Given the description of an element on the screen output the (x, y) to click on. 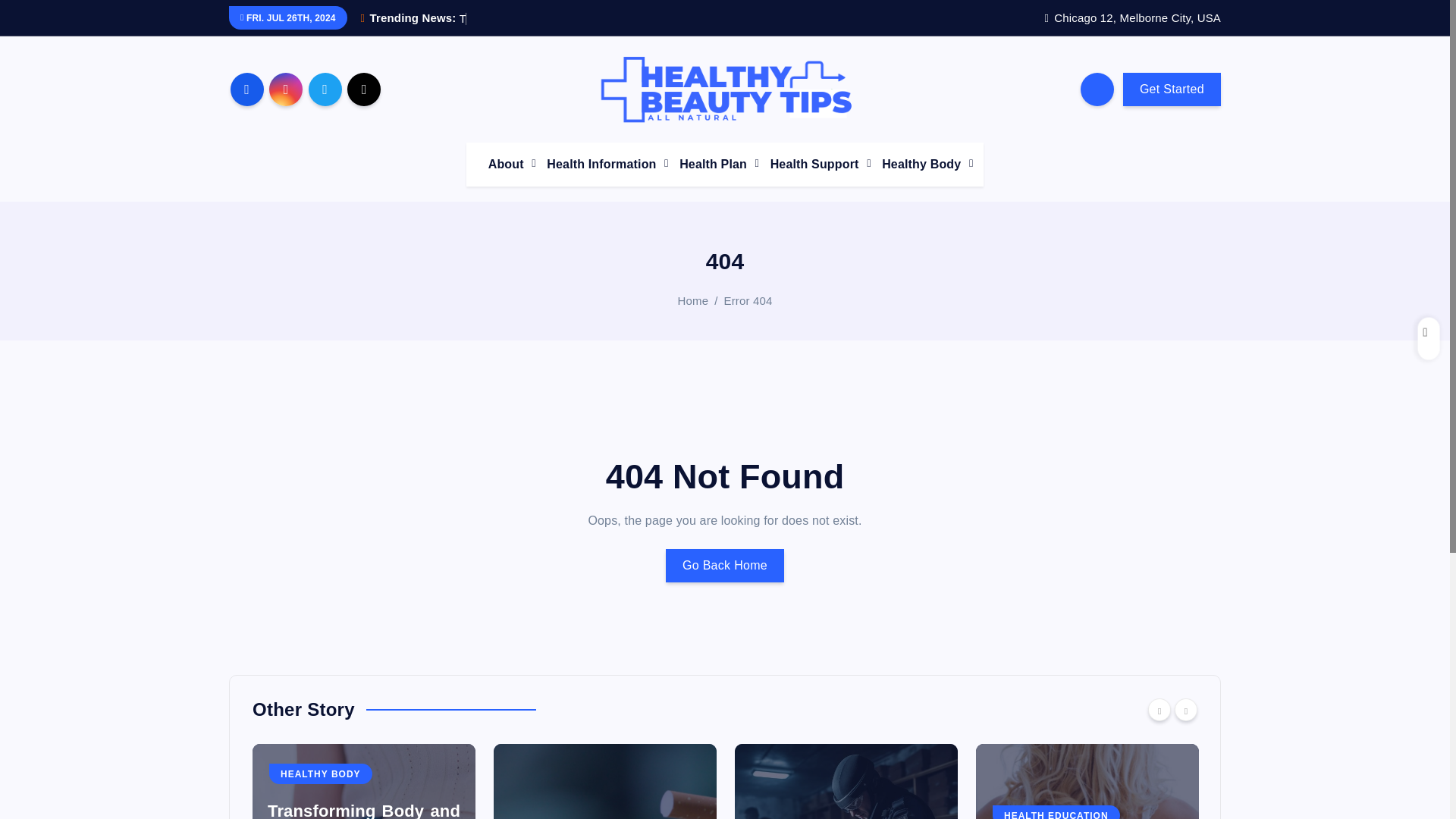
About (507, 164)
Get Started (1171, 89)
Health Information (602, 164)
Health Support (815, 164)
Health Support (815, 164)
Health Information (602, 164)
Health Plan (713, 164)
Health Plan (713, 164)
About (507, 164)
Healthy Body (922, 164)
